Given the description of an element on the screen output the (x, y) to click on. 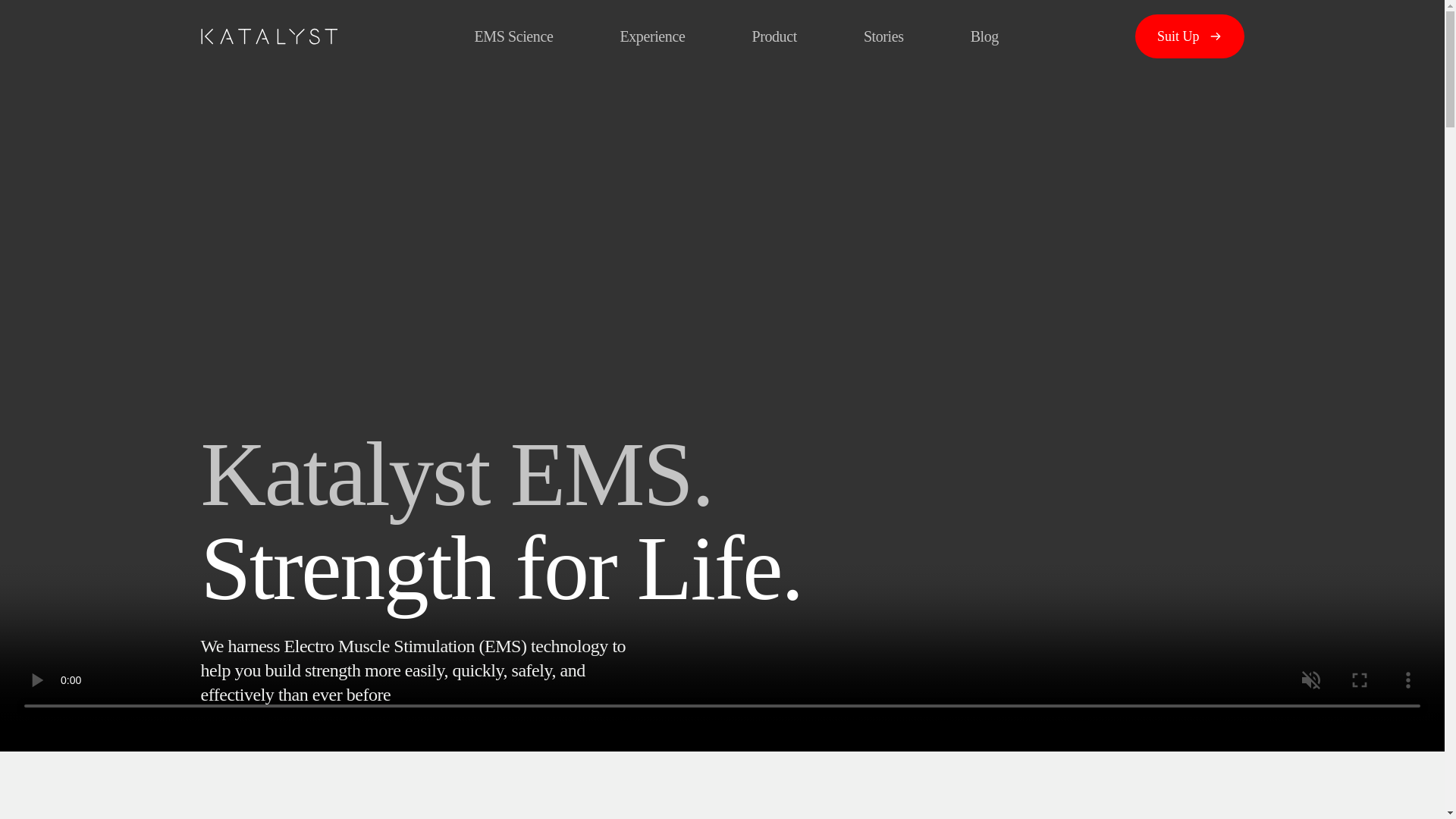
Stories (883, 36)
Product (773, 36)
EMS Science (513, 36)
Blog (984, 36)
Experience (652, 36)
Suit Up (1189, 36)
